Given the description of an element on the screen output the (x, y) to click on. 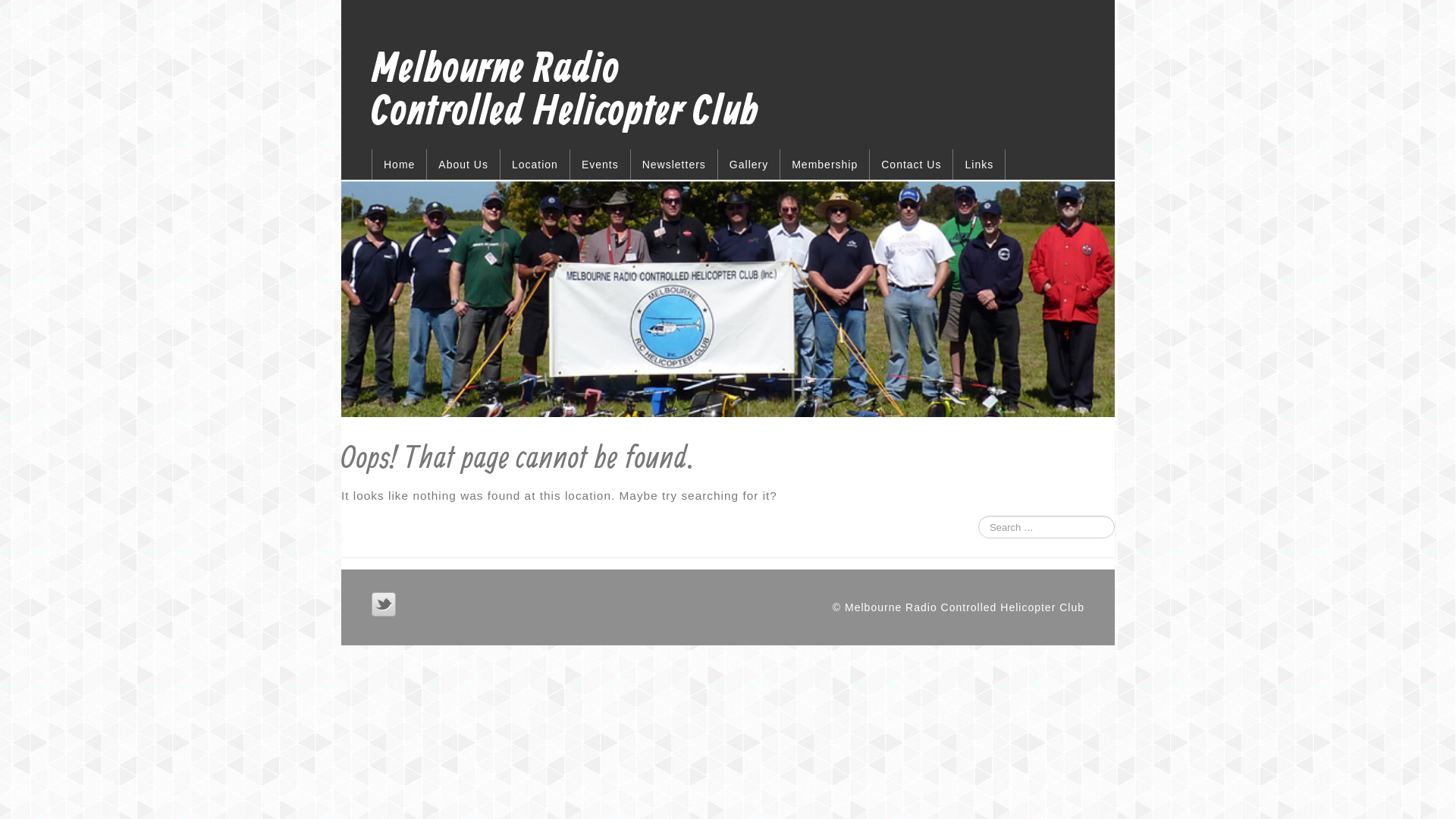
Links Element type: text (979, 164)
About Us Element type: text (463, 164)
Gallery Element type: text (749, 164)
Location Element type: text (535, 164)
Events Element type: text (600, 164)
Contact Us Element type: text (911, 164)
Melbourne Radio Controlled Helicopter Club Element type: text (565, 91)
Home Element type: text (398, 164)
Newsletters Element type: text (674, 164)
Membership Element type: text (824, 164)
